Given the description of an element on the screen output the (x, y) to click on. 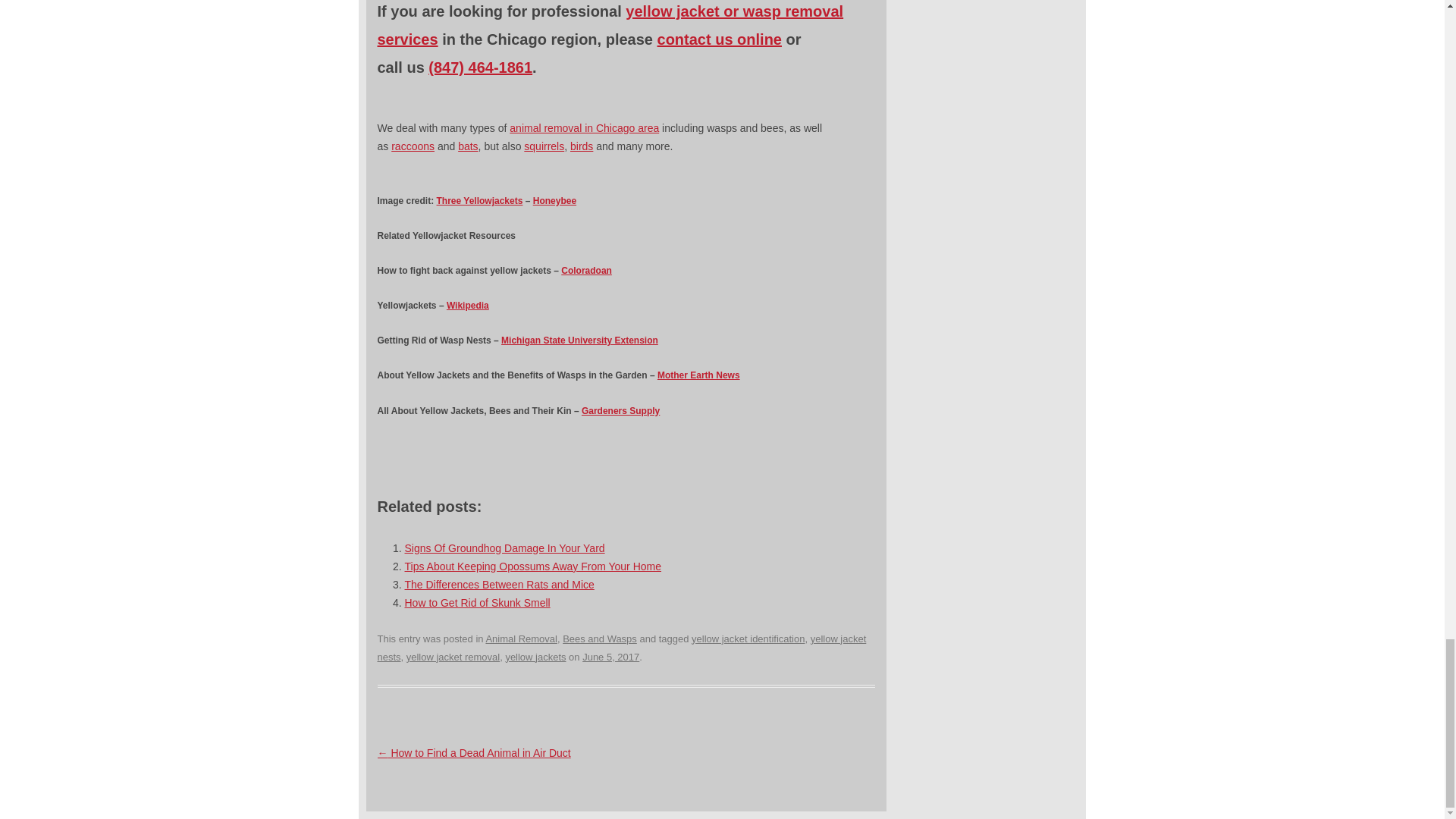
yellow jacket or wasp removal services (610, 25)
birds (581, 146)
animal removal in Chicago area (584, 128)
Tips About Keeping Opossums Away From Your Home (533, 566)
Wikipedia (467, 305)
Gardeners Supply (619, 410)
bats (467, 146)
Mother Earth News (698, 375)
Michigan State University Extension (579, 339)
Coloradoan (585, 270)
Signs Of Groundhog Damage In Your Yard (504, 548)
How to Get Rid of Skunk Smell (477, 603)
7:29 pm (610, 656)
raccoons (412, 146)
contact us online (719, 39)
